Given the description of an element on the screen output the (x, y) to click on. 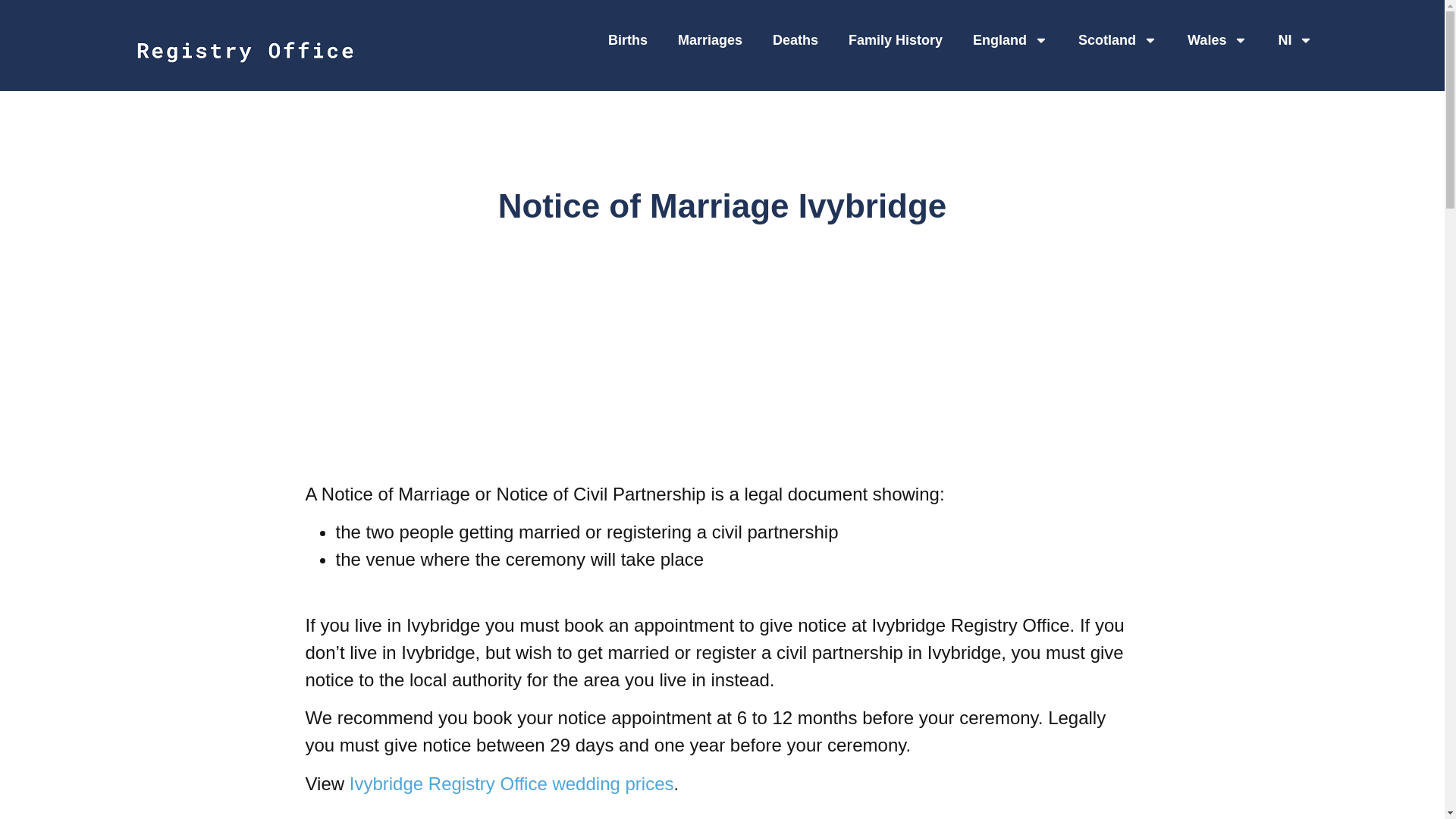
Marriages (709, 39)
Wales (1217, 39)
NI (1294, 39)
Scotland (1117, 39)
Births (627, 39)
Advertisement (721, 813)
Family History (895, 39)
England (1010, 39)
Deaths (794, 39)
